Given the description of an element on the screen output the (x, y) to click on. 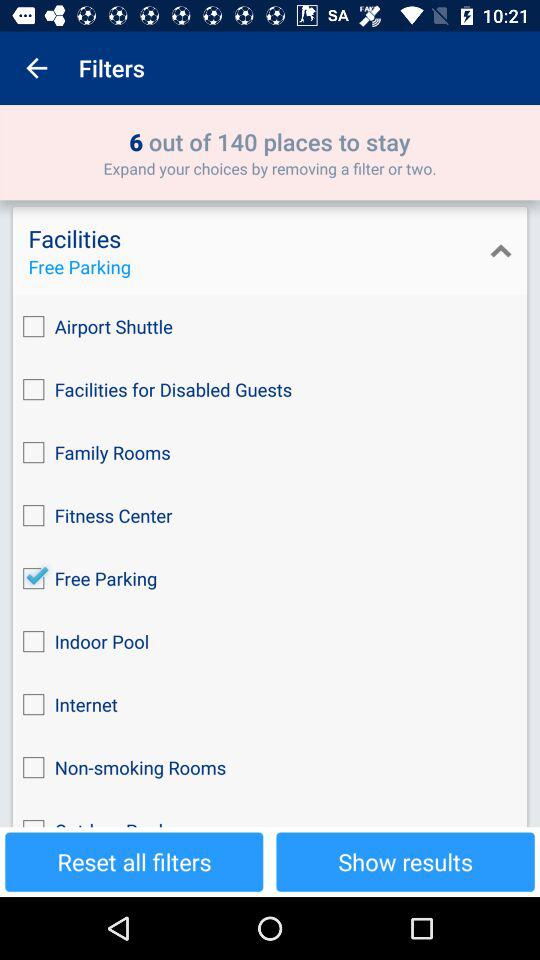
scroll to the airport shuttle item (269, 326)
